Given the description of an element on the screen output the (x, y) to click on. 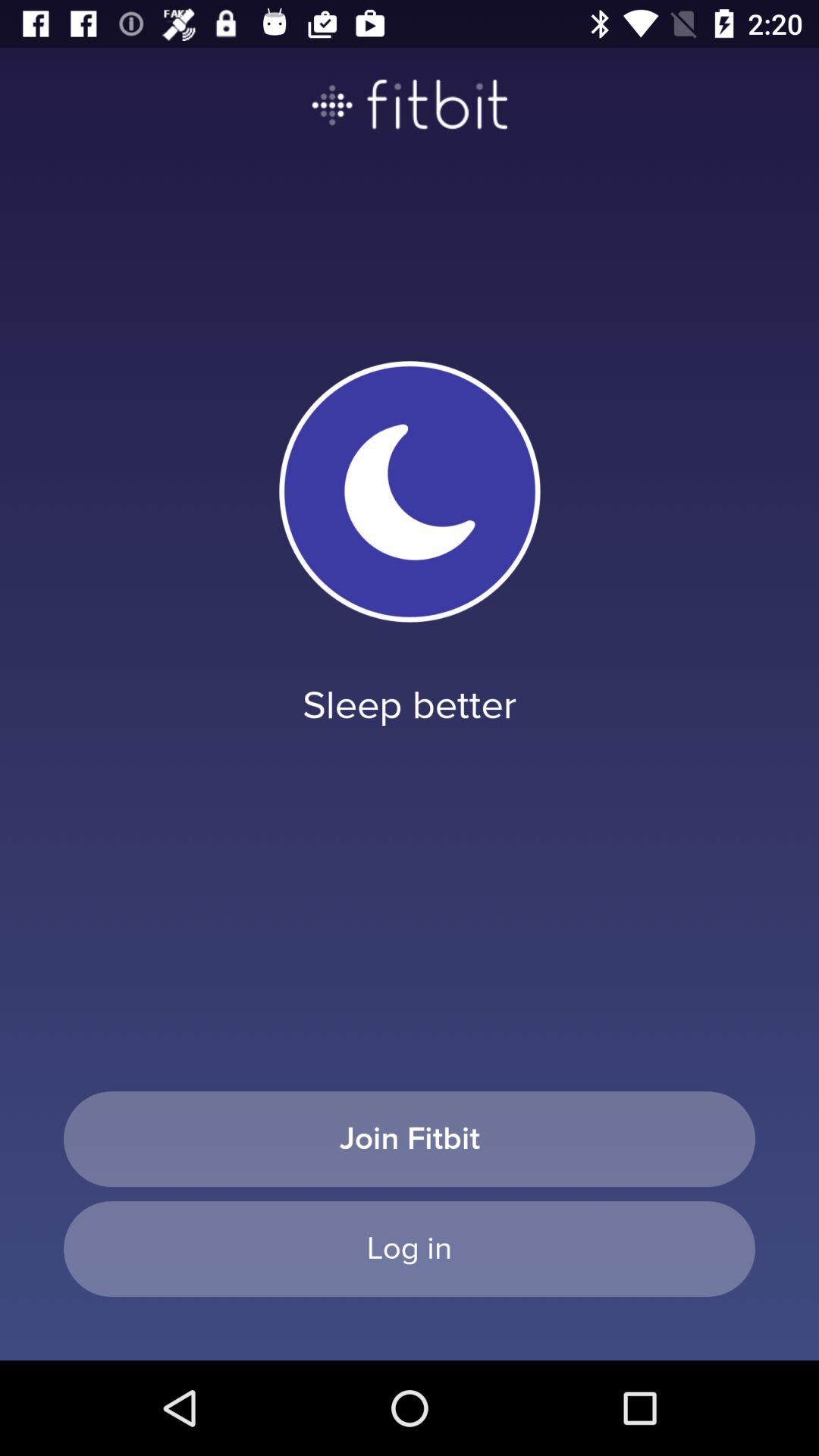
select icon below sleep better item (409, 1138)
